Given the description of an element on the screen output the (x, y) to click on. 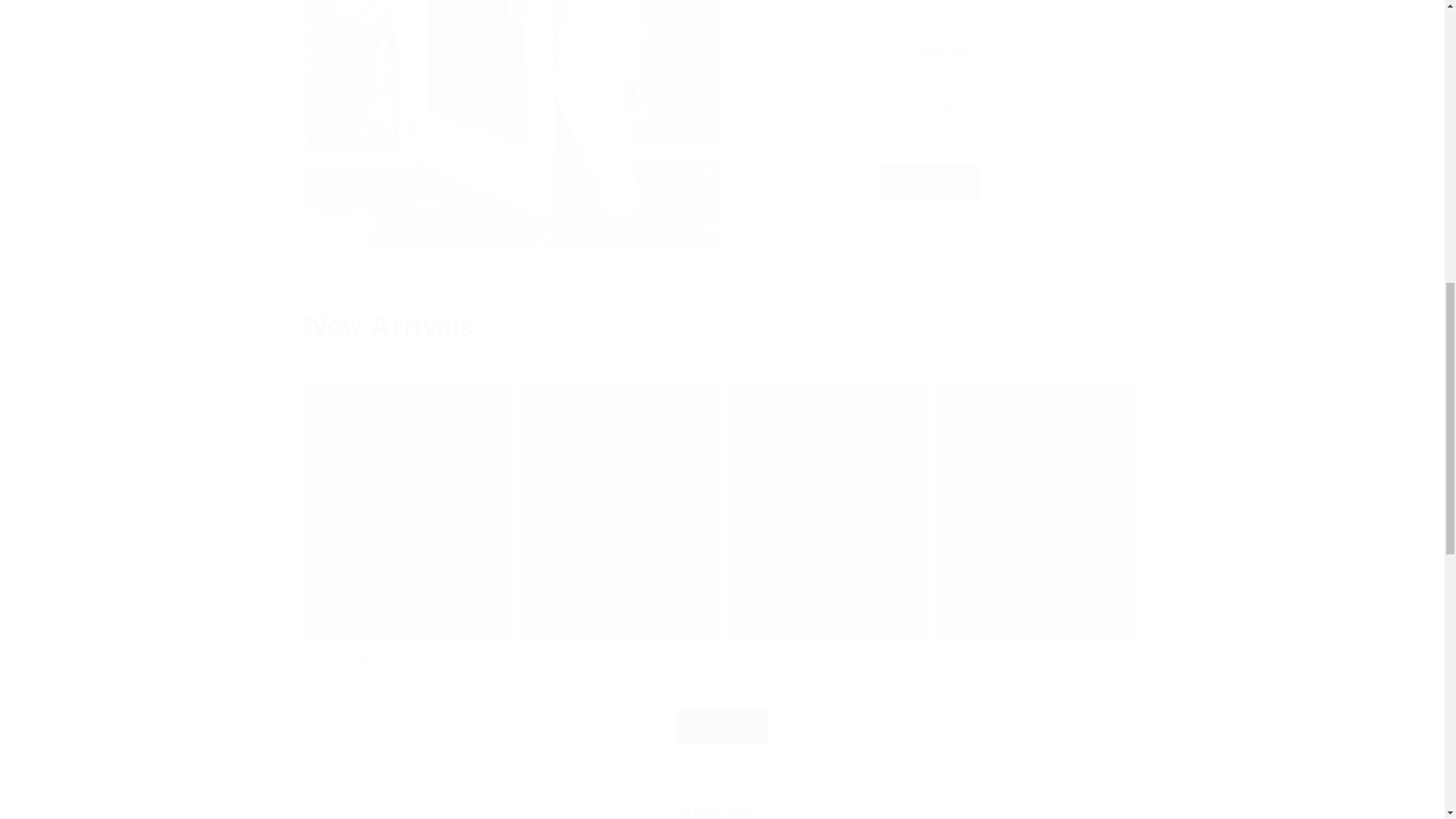
Amanda Set (1038, 658)
Jasmine Romper (826, 658)
Cooper City, FL 33024 (930, 77)
Sally Crochet Maxi (617, 658)
Shop Now (721, 810)
Dance All Night Ruffle Set (406, 658)
Visit Now (929, 181)
New Arrivals (721, 326)
